Given the description of an element on the screen output the (x, y) to click on. 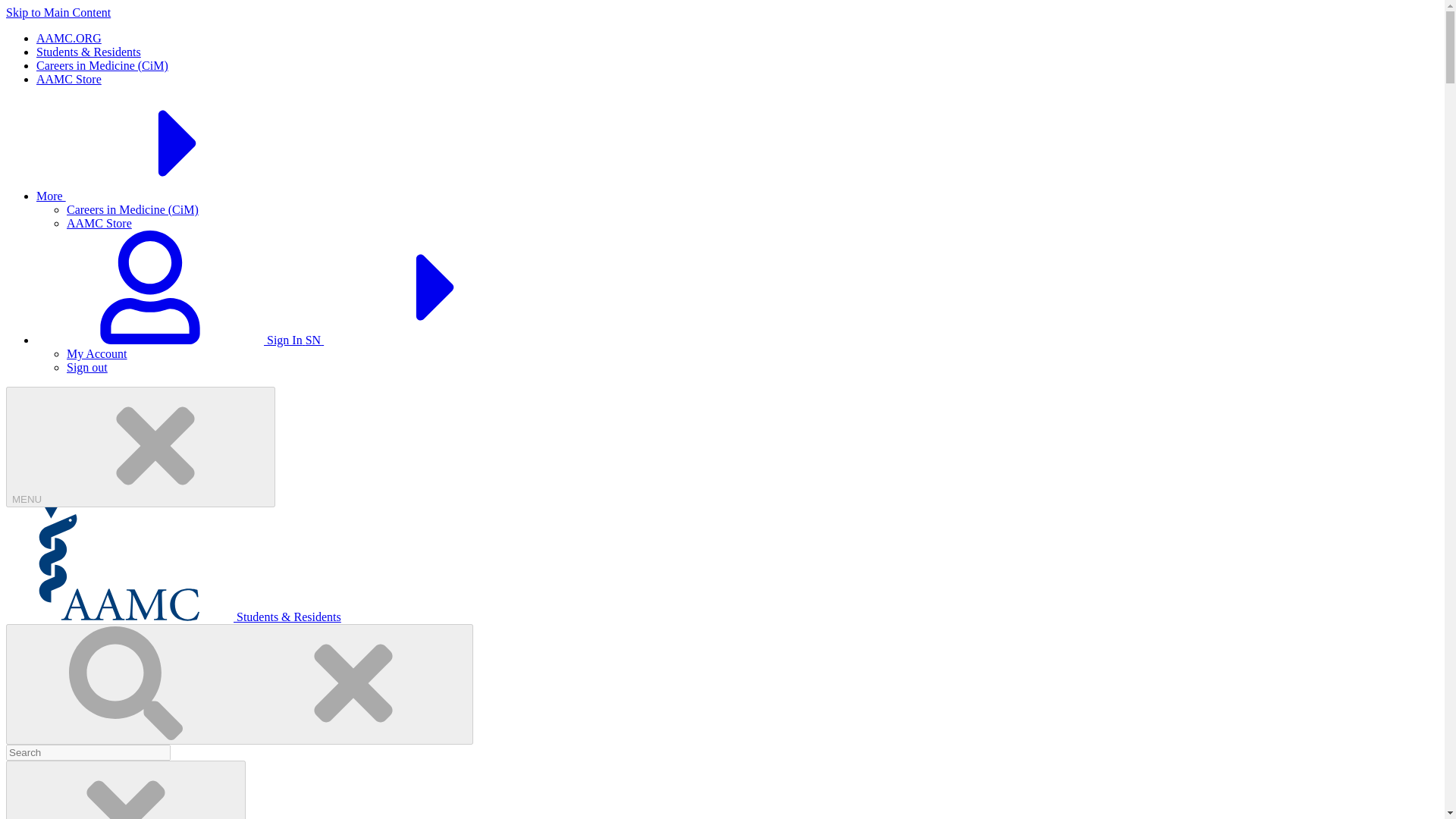
AAMC Store (99, 223)
My Account (97, 353)
AAMC Store (68, 78)
Sign out (86, 367)
AAMC.ORG (68, 38)
Sign In SN (293, 339)
MENU (140, 446)
Skip to Main Content (57, 11)
More (165, 195)
